Given the description of an element on the screen output the (x, y) to click on. 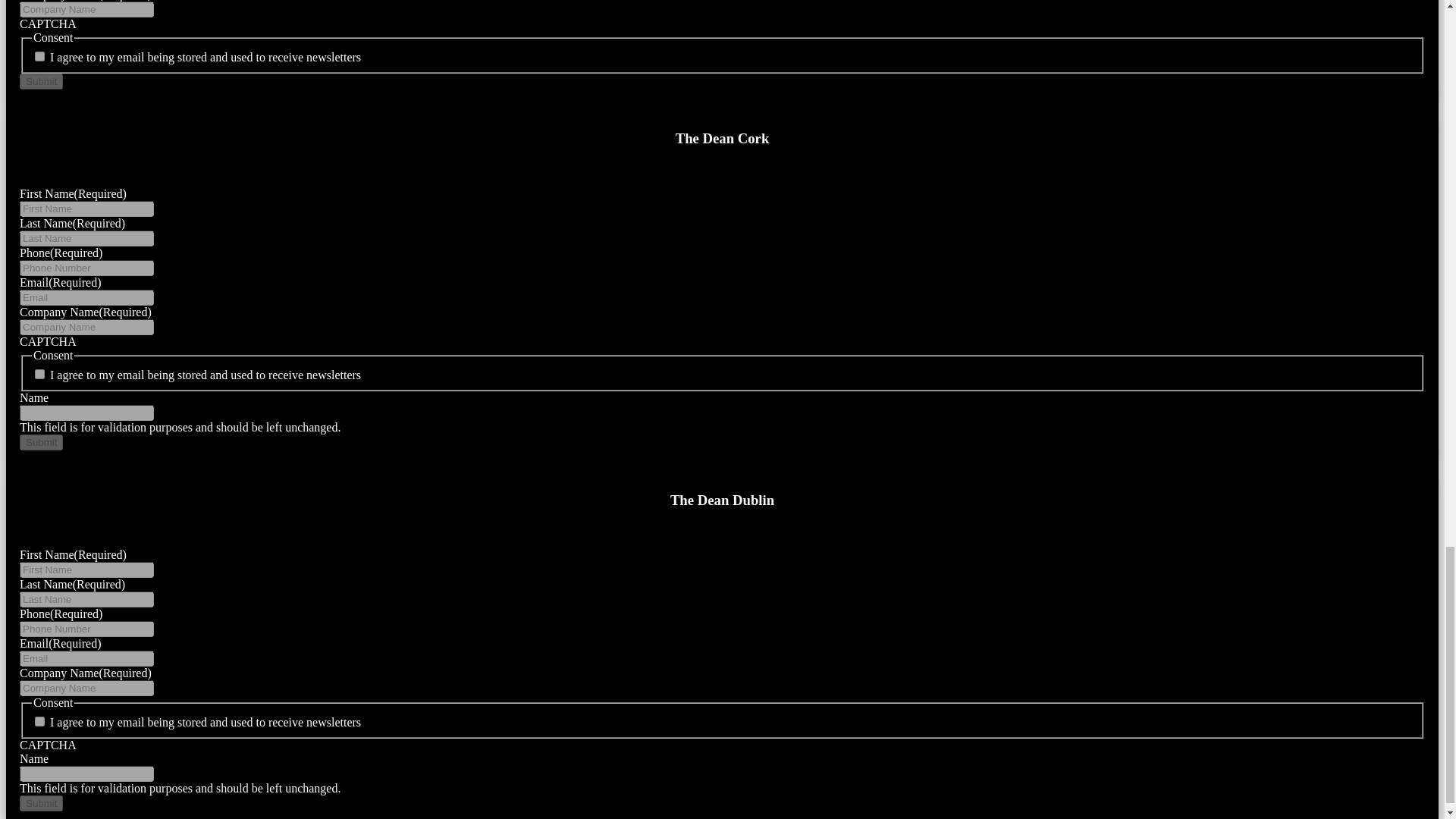
1 (39, 56)
Submit (41, 81)
